Given the description of an element on the screen output the (x, y) to click on. 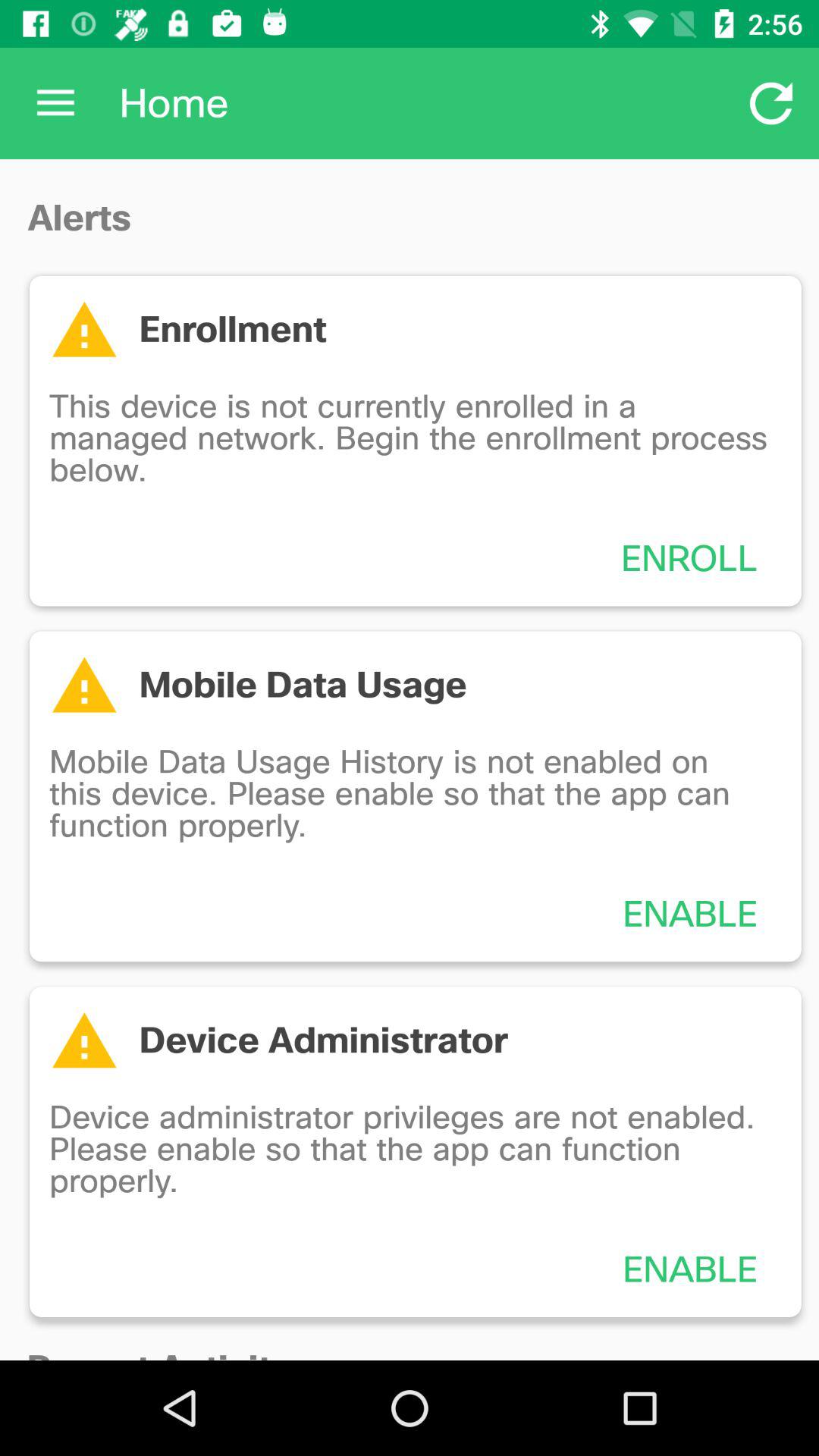
scroll until enroll item (689, 558)
